Given the description of an element on the screen output the (x, y) to click on. 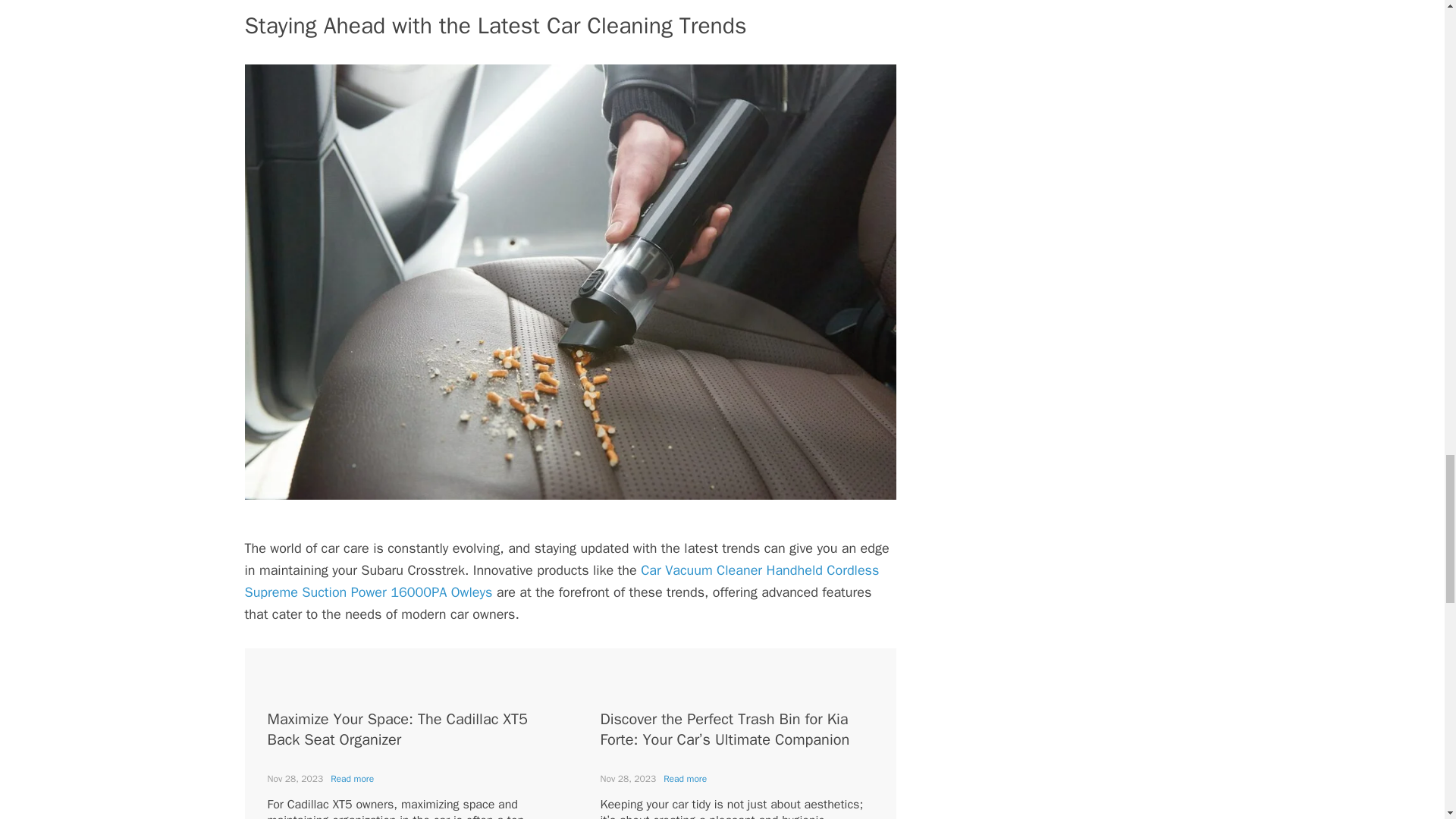
Read more (352, 778)
Read more (684, 778)
Maximize Your Space: The Cadillac XT5 Back Seat Organizer (396, 729)
